Given the description of an element on the screen output the (x, y) to click on. 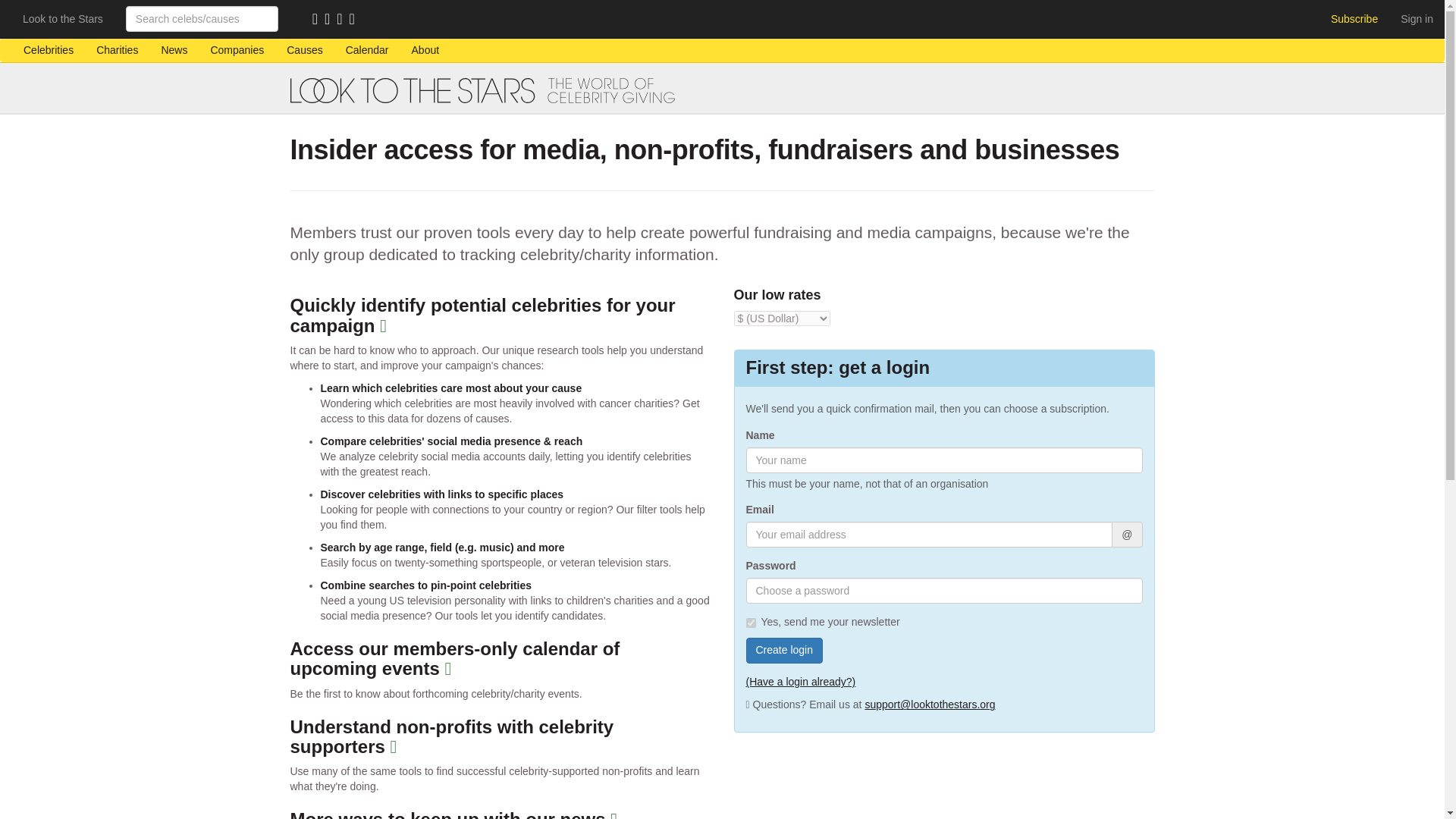
Follow us on Twitter (342, 20)
Twitter (342, 20)
Create login (784, 650)
Find out about our subscriptions (1354, 18)
Subscribe to our feed (318, 20)
Find out more about this website (425, 49)
Subscribe (1354, 18)
Look to the Stars (63, 18)
Charitable areas of interest (304, 49)
About (425, 49)
